Given the description of an element on the screen output the (x, y) to click on. 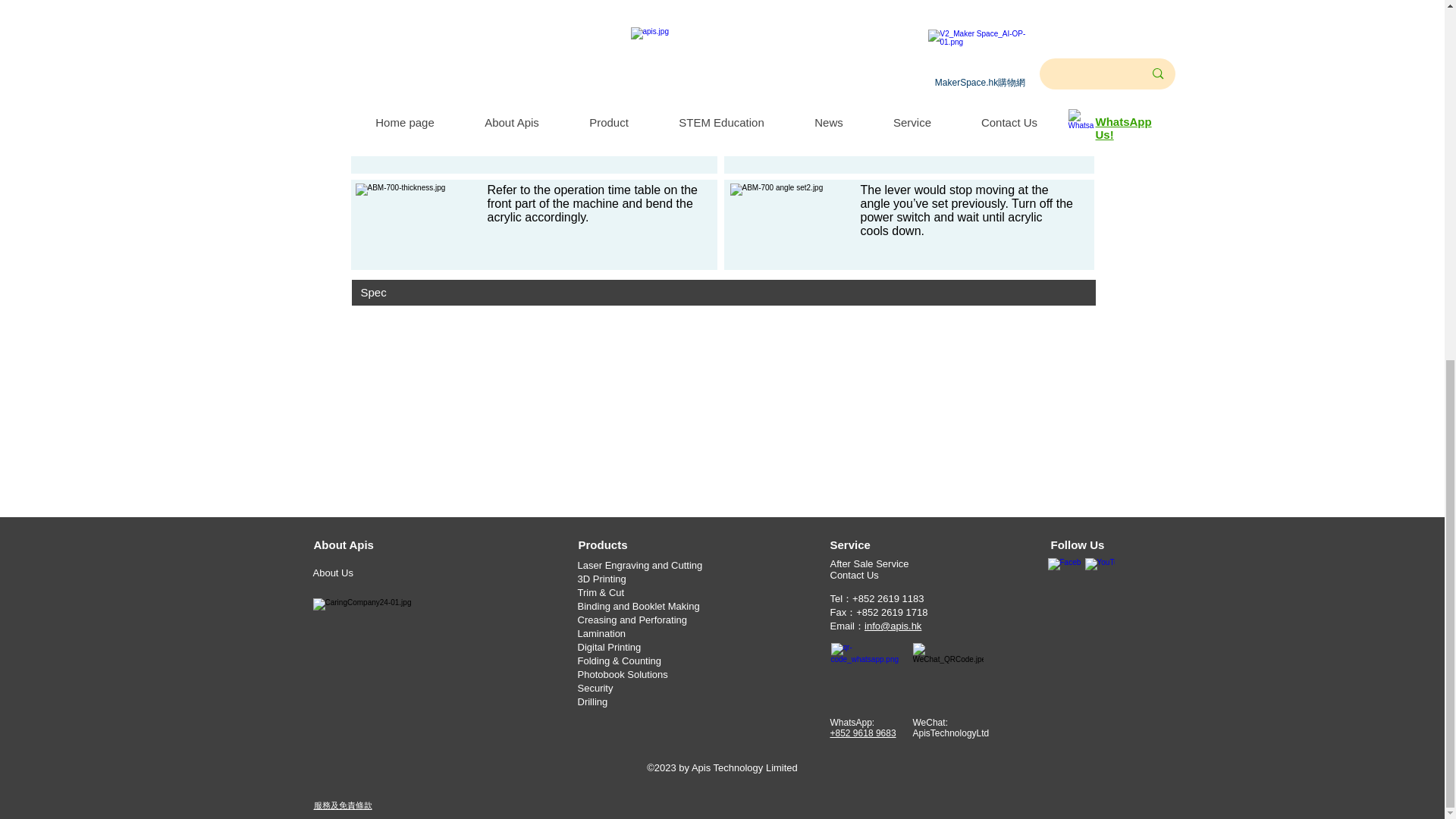
3D Printing (602, 577)
Binding and Booklet Making (639, 605)
Lamination (602, 633)
Laser Engraving and Cutting (640, 563)
Digital Printing (610, 646)
About Us (367, 572)
Creasing and Perforating (632, 619)
Photobook Solutions (623, 674)
